Given the description of an element on the screen output the (x, y) to click on. 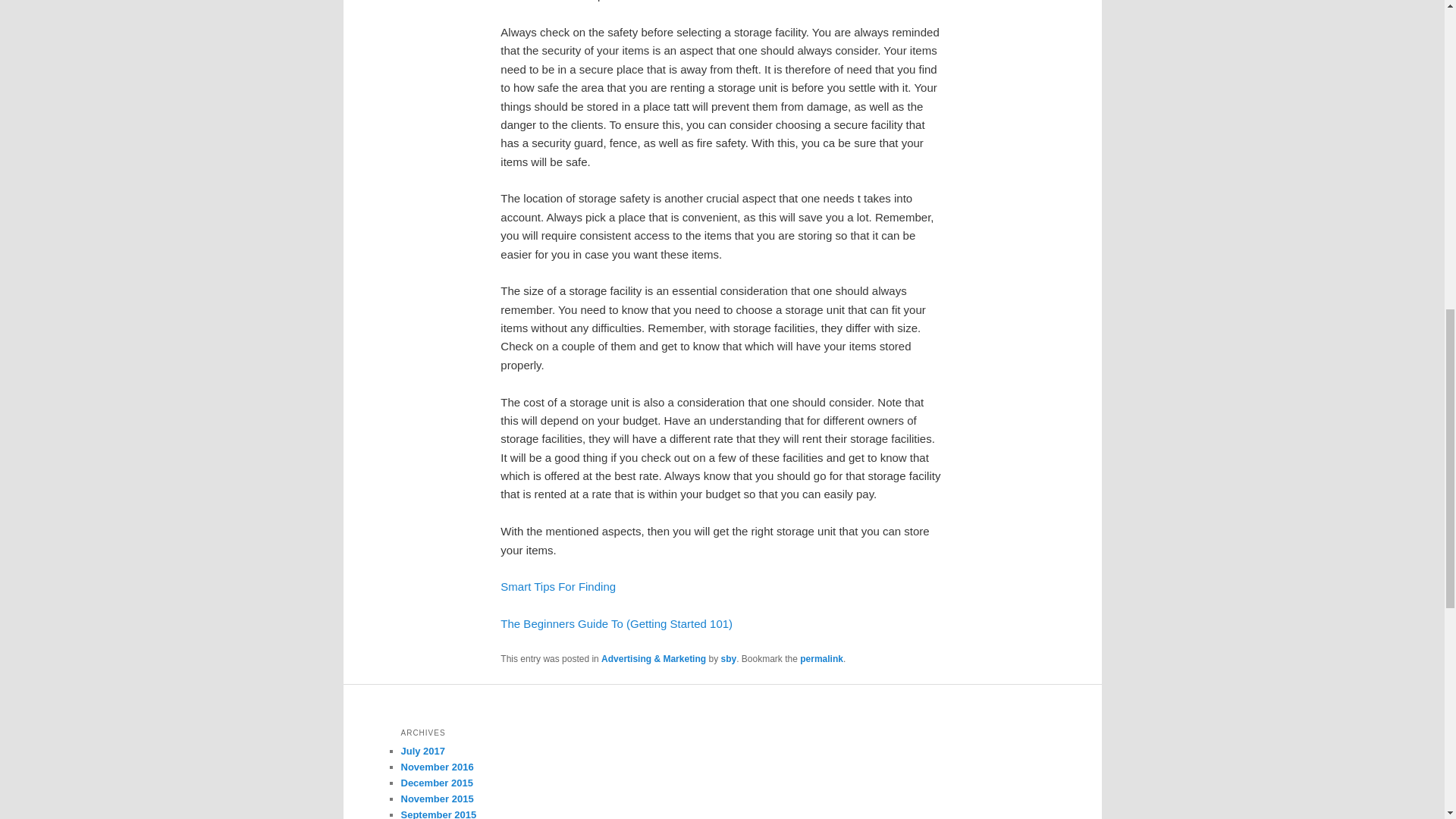
Smart Tips For Finding (557, 585)
July 2017 (422, 750)
November 2015 (436, 798)
September 2015 (438, 814)
sby (728, 658)
December 2015 (435, 782)
November 2016 (436, 767)
Permalink to Getting Creative With  Advice (821, 658)
permalink (821, 658)
